Given the description of an element on the screen output the (x, y) to click on. 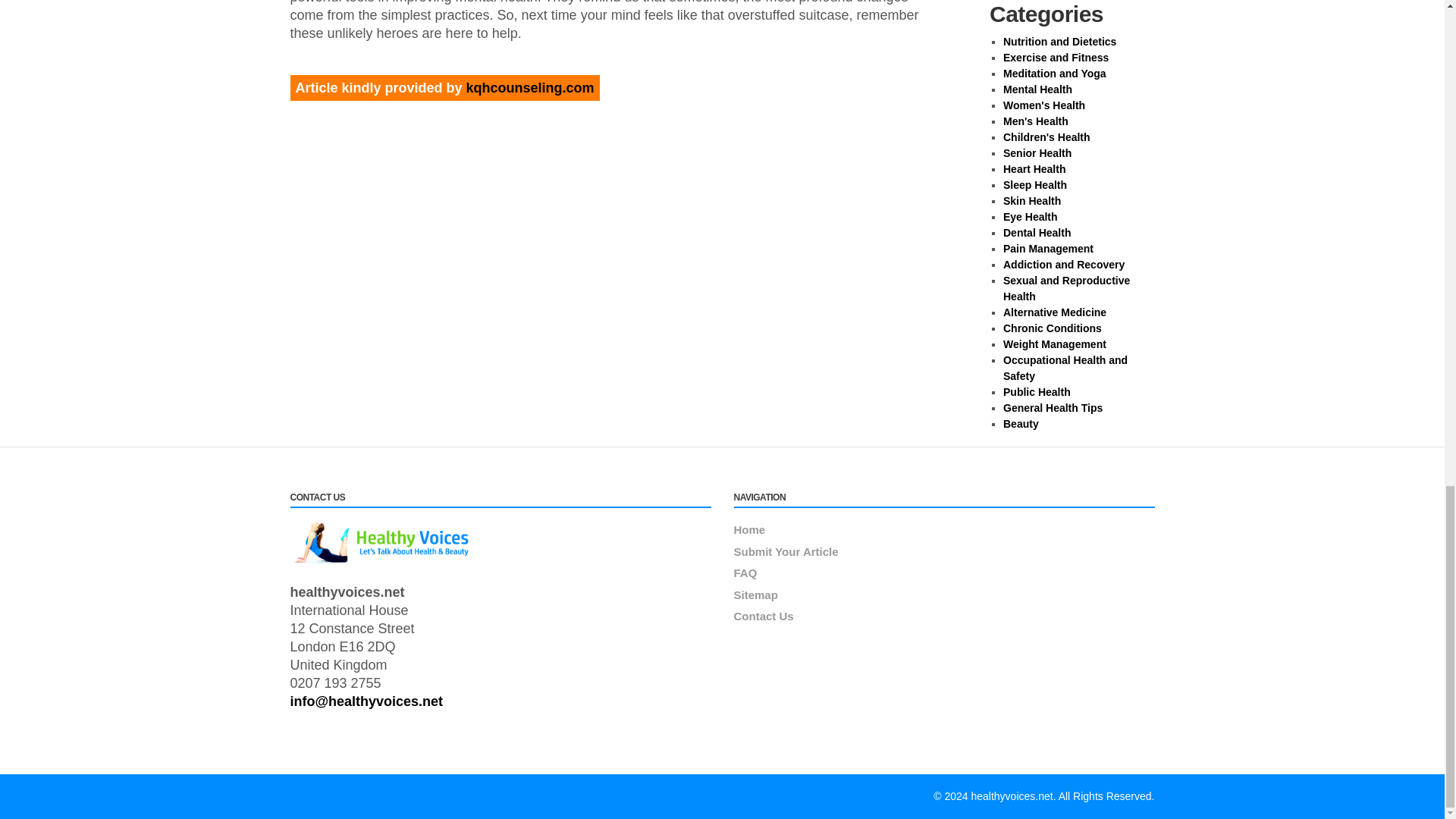
Meditation and Yoga (1054, 73)
Children's Health (1046, 137)
Heart Health (1034, 168)
Sleep Health (1035, 184)
Exercise and Fitness (1055, 57)
Nutrition and Dietetics (1059, 41)
Women's Health (1043, 105)
kqhcounseling.com (529, 87)
Senior Health (1037, 152)
Men's Health (1035, 121)
